Given the description of an element on the screen output the (x, y) to click on. 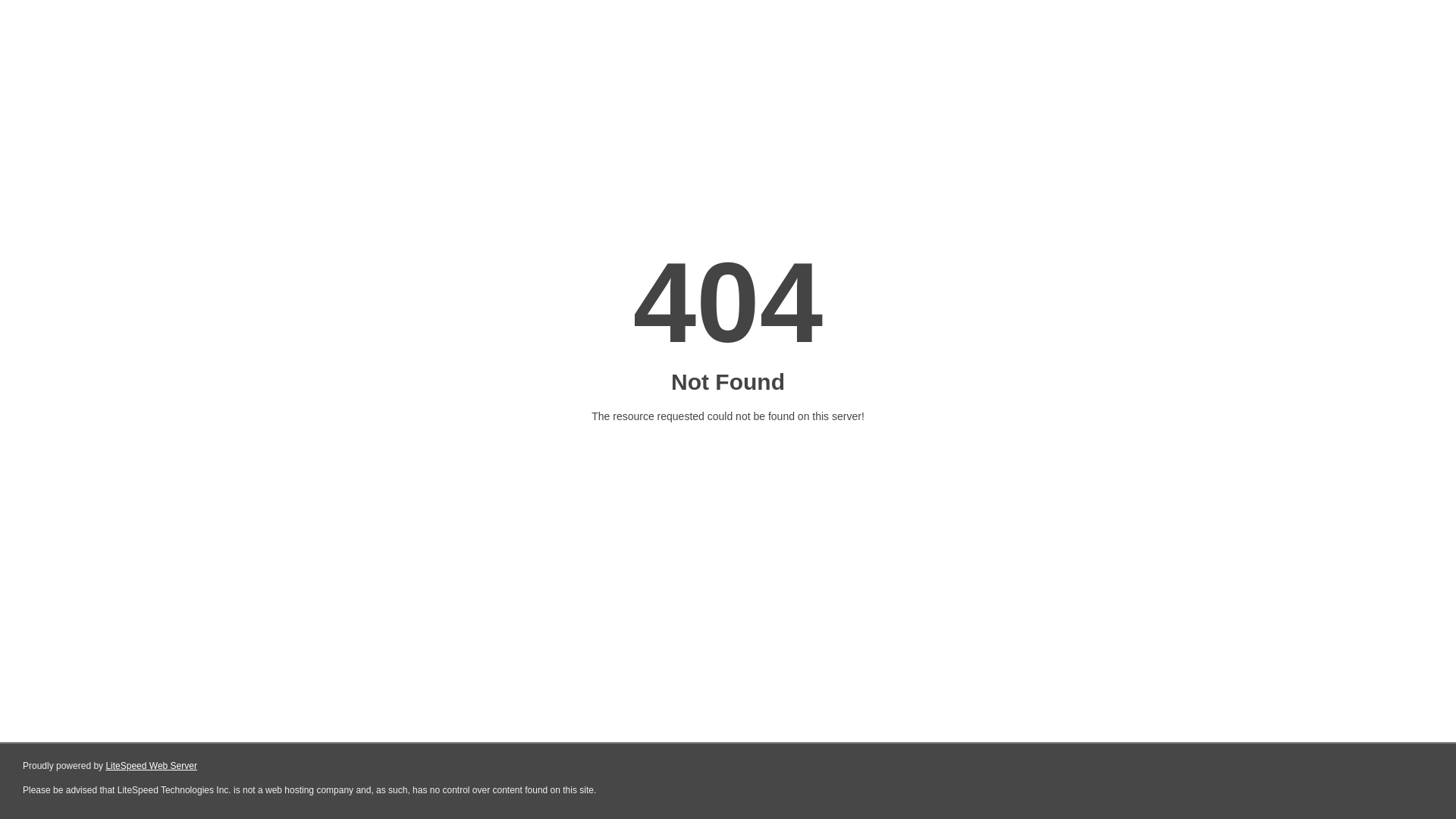
LiteSpeed Web Server Element type: text (151, 765)
